Given the description of an element on the screen output the (x, y) to click on. 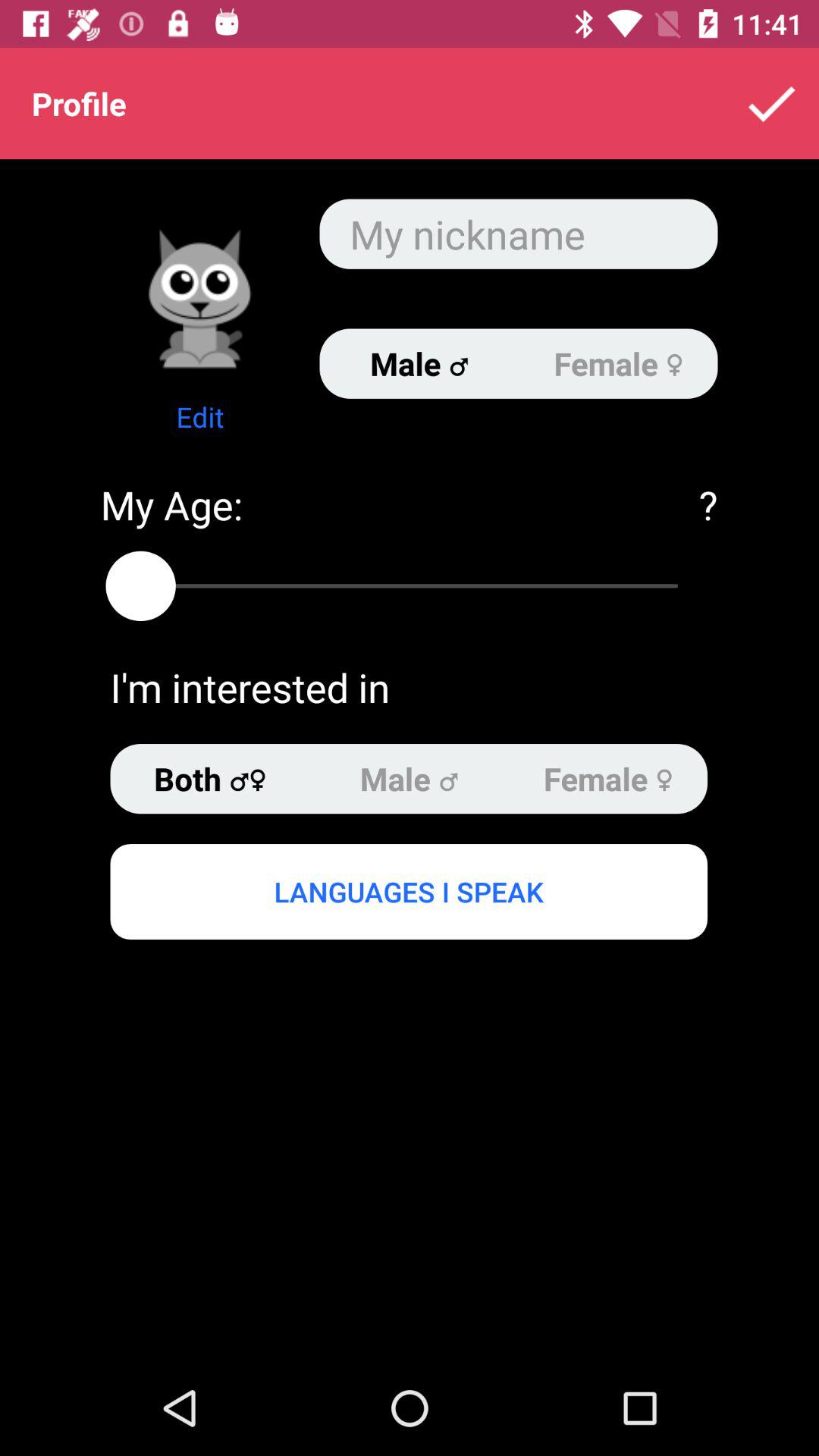
change profile icon (199, 298)
